Given the description of an element on the screen output the (x, y) to click on. 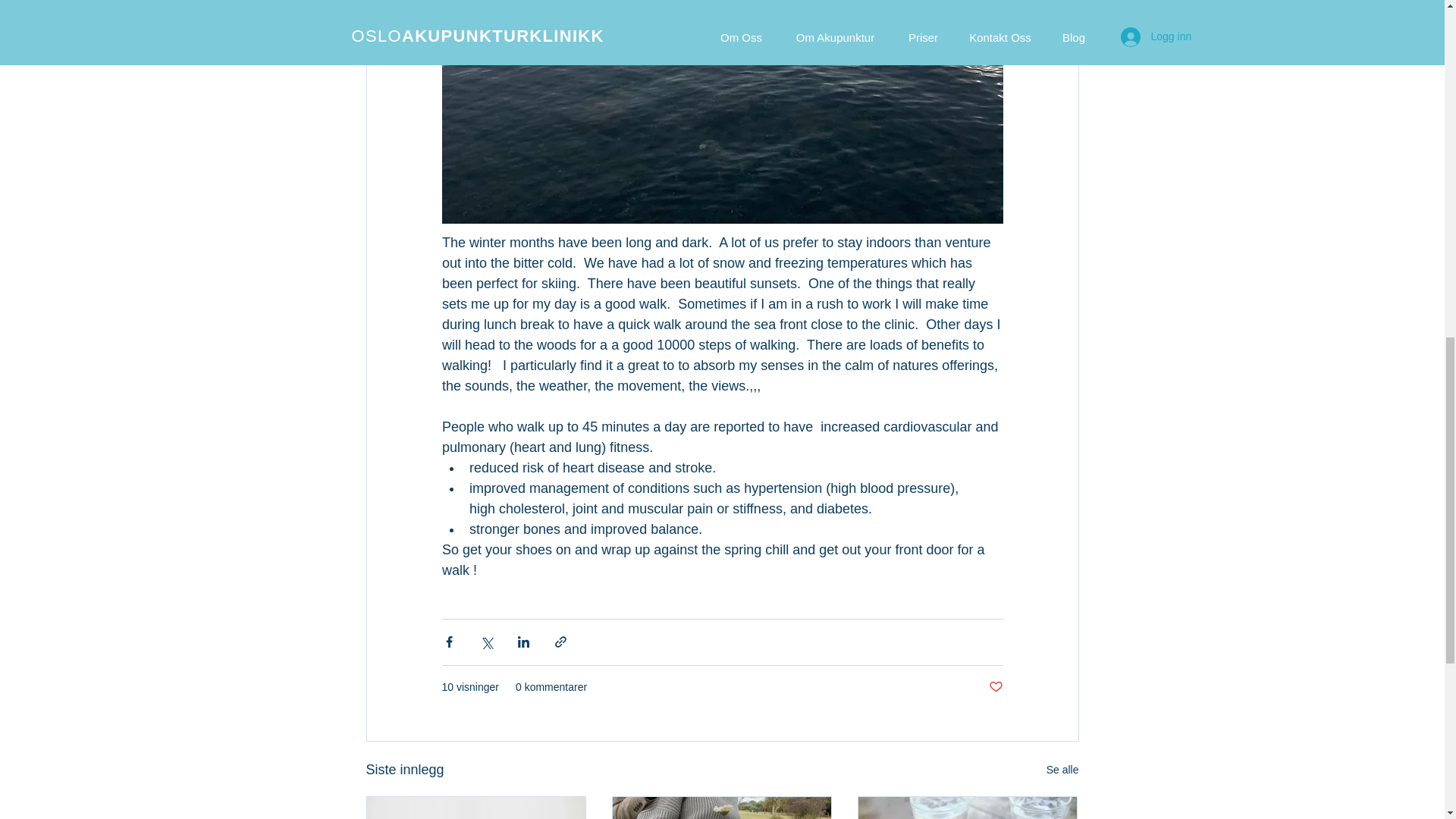
Innlegg ikke merket som likt (995, 687)
Se alle (1062, 770)
